Given the description of an element on the screen output the (x, y) to click on. 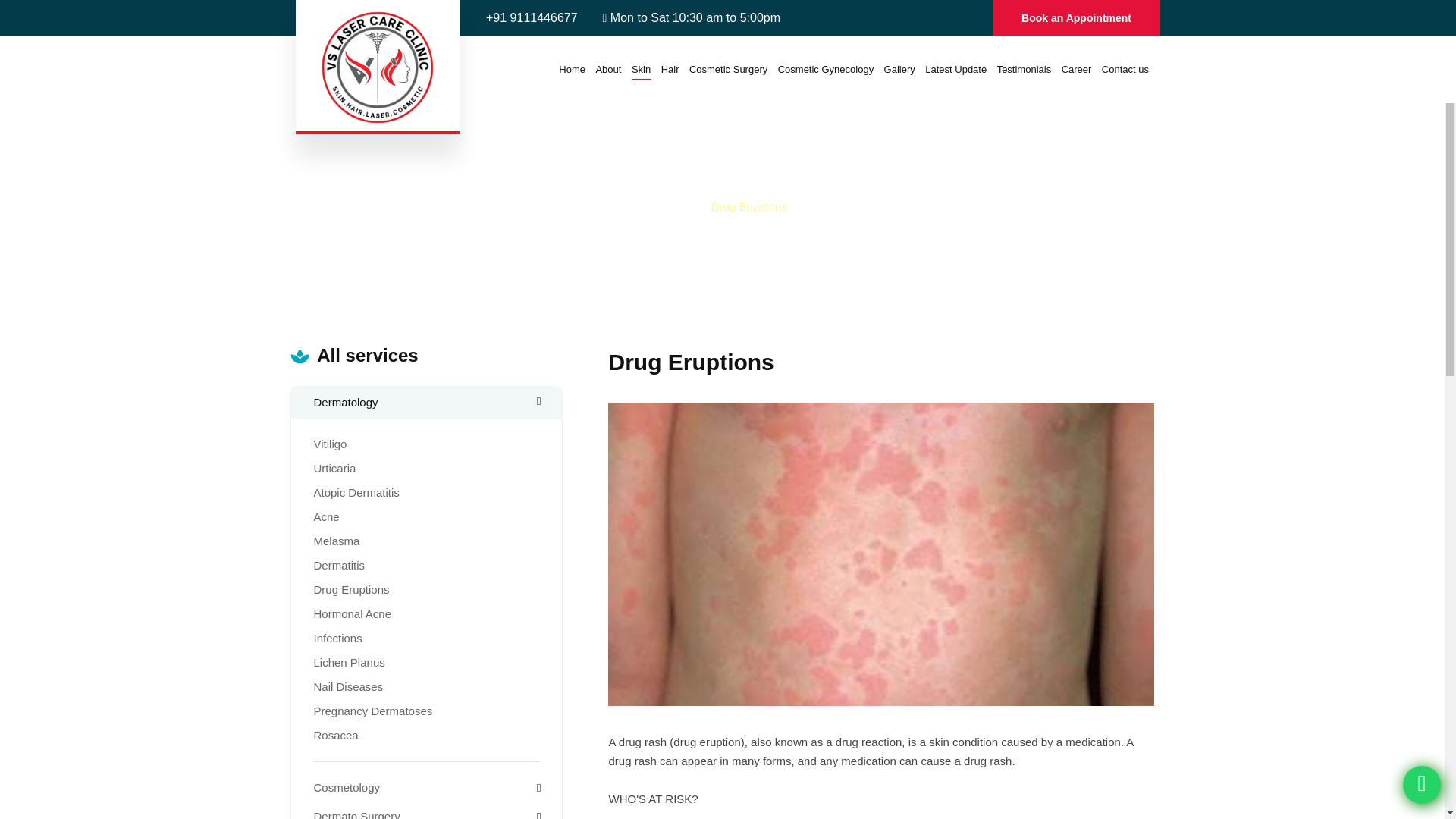
Nail Diseases (349, 686)
Melasma (336, 540)
Dermatology (427, 402)
Cosmetology (347, 787)
Infections (338, 637)
Book an Appointment (1076, 18)
Acne (326, 516)
Cosmetic Gynecology (825, 69)
Career (1076, 69)
Skin (640, 69)
